Given the description of an element on the screen output the (x, y) to click on. 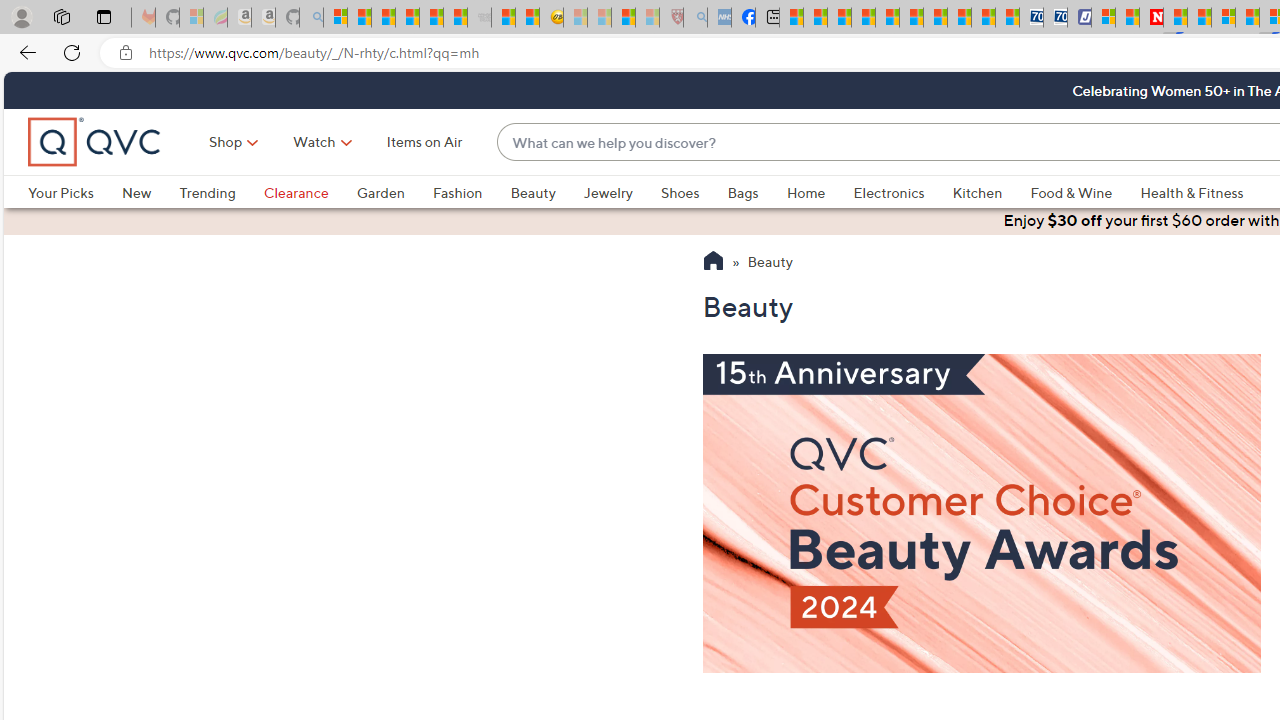
Garden (379, 192)
Your Picks (74, 192)
Cheap Hotels - Save70.com (1055, 17)
Your Picks (60, 192)
New (136, 192)
Fashion (471, 192)
Food & Wine (1071, 192)
Jewelry (621, 192)
World - MSN (839, 17)
Latest Politics News & Archive | Newsweek.com (1151, 17)
New (150, 192)
